Given the description of an element on the screen output the (x, y) to click on. 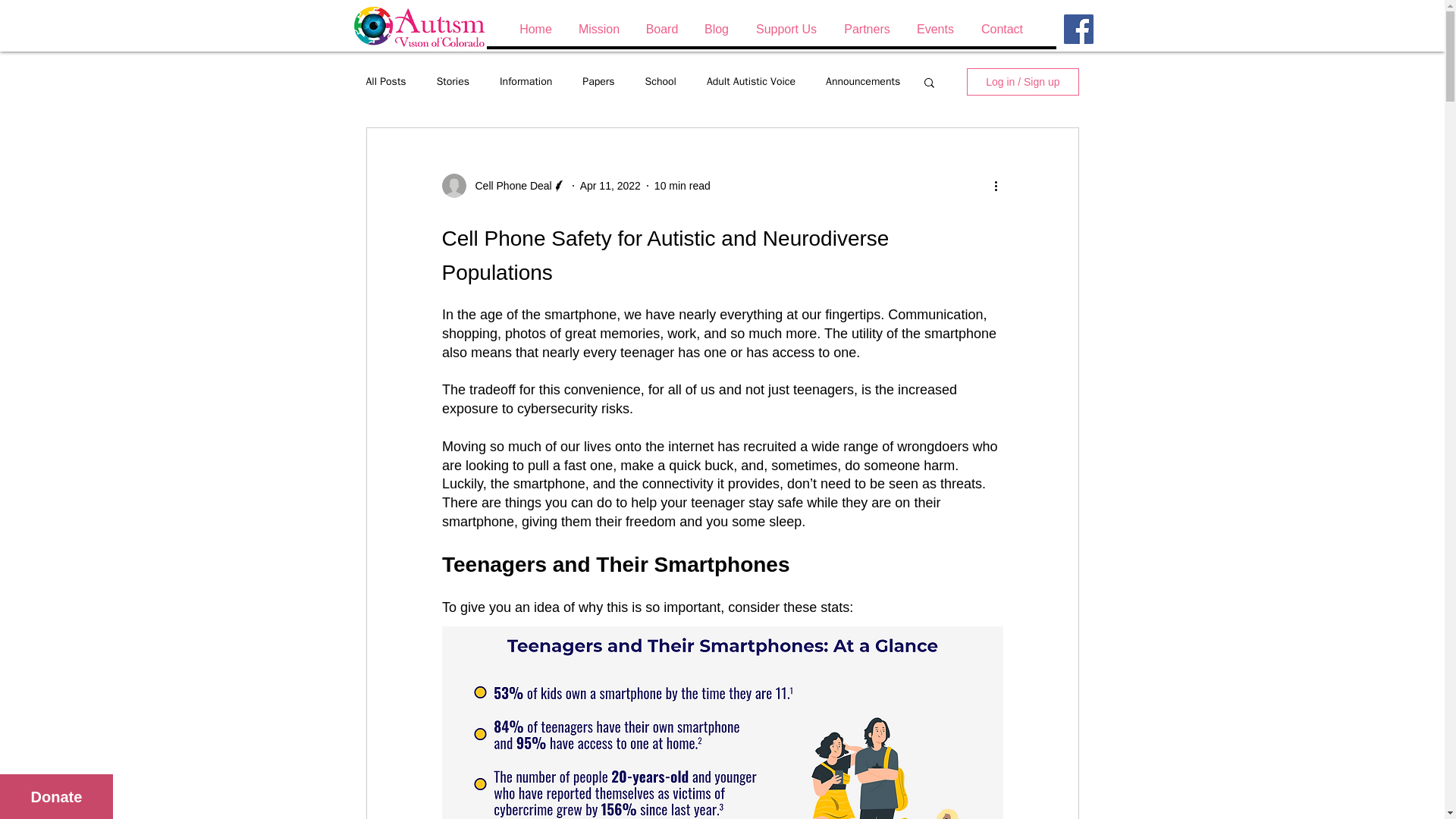
Partners (865, 28)
Events (934, 28)
Papers (598, 81)
Announcements (862, 81)
Mission (597, 28)
Home (534, 28)
Adult Autistic Voice (750, 81)
School (661, 81)
All Posts (385, 81)
Stories (452, 81)
Information (525, 81)
Support Us (785, 28)
Apr 11, 2022 (609, 184)
Board (660, 28)
Blog (715, 28)
